Given the description of an element on the screen output the (x, y) to click on. 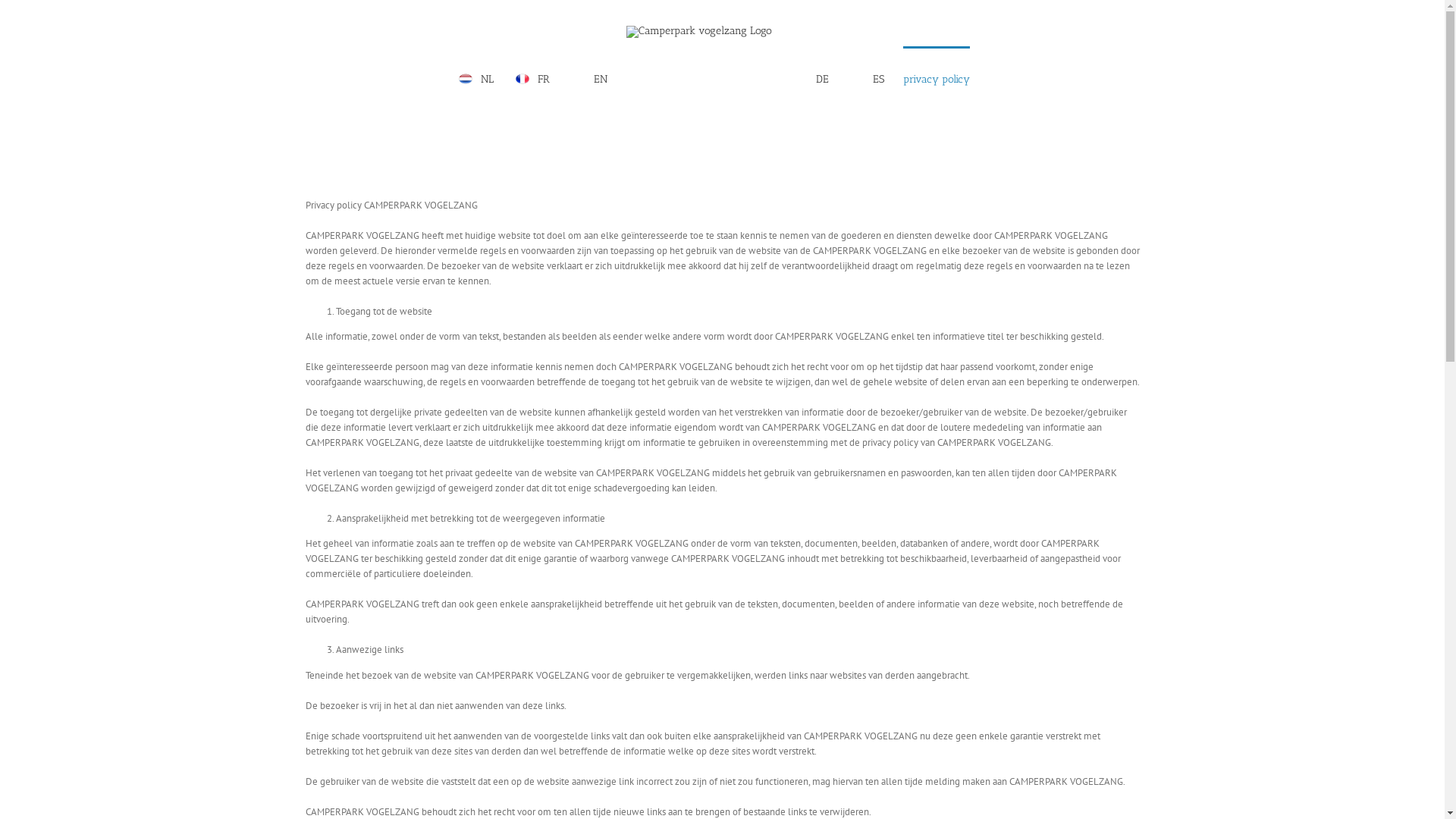
ES Element type: text (865, 77)
netherlands_640 Element type: hover (465, 78)
NL Element type: text (474, 77)
united_kingdom_640 Element type: hover (578, 78)
EN Element type: text (587, 77)
DE Element type: text (809, 77)
spain_640 Element type: hover (857, 78)
FR Element type: text (530, 77)
germany_640 Element type: hover (800, 78)
france_640 Element type: hover (522, 78)
privacy policy Element type: text (936, 77)
